Given the description of an element on the screen output the (x, y) to click on. 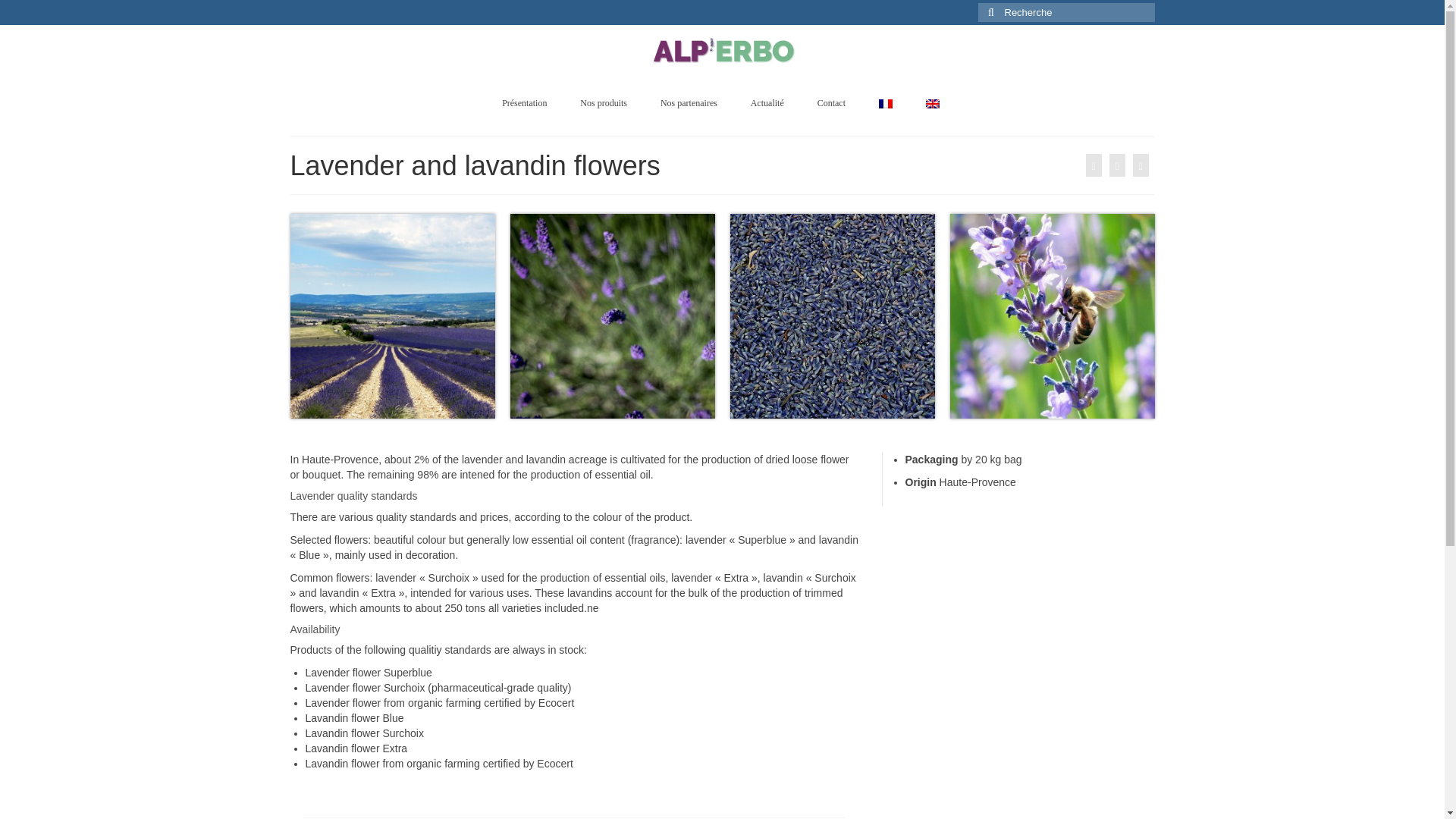
Contact (831, 102)
Nos produits (603, 102)
Nos partenaires (688, 102)
English (932, 103)
